Given the description of an element on the screen output the (x, y) to click on. 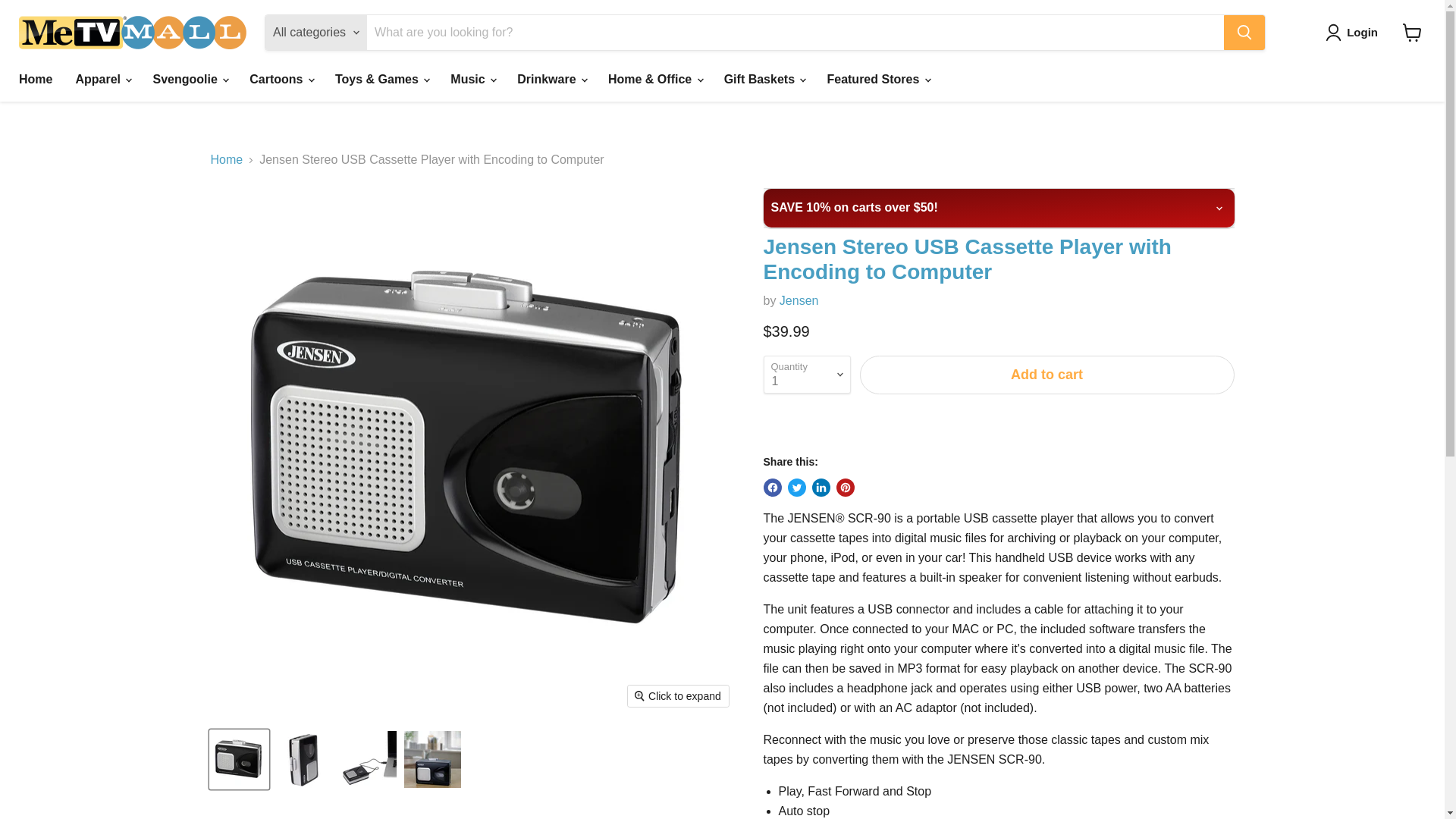
Jensen (798, 300)
Home (35, 79)
Login (1354, 32)
View cart (1411, 32)
